Given the description of an element on the screen output the (x, y) to click on. 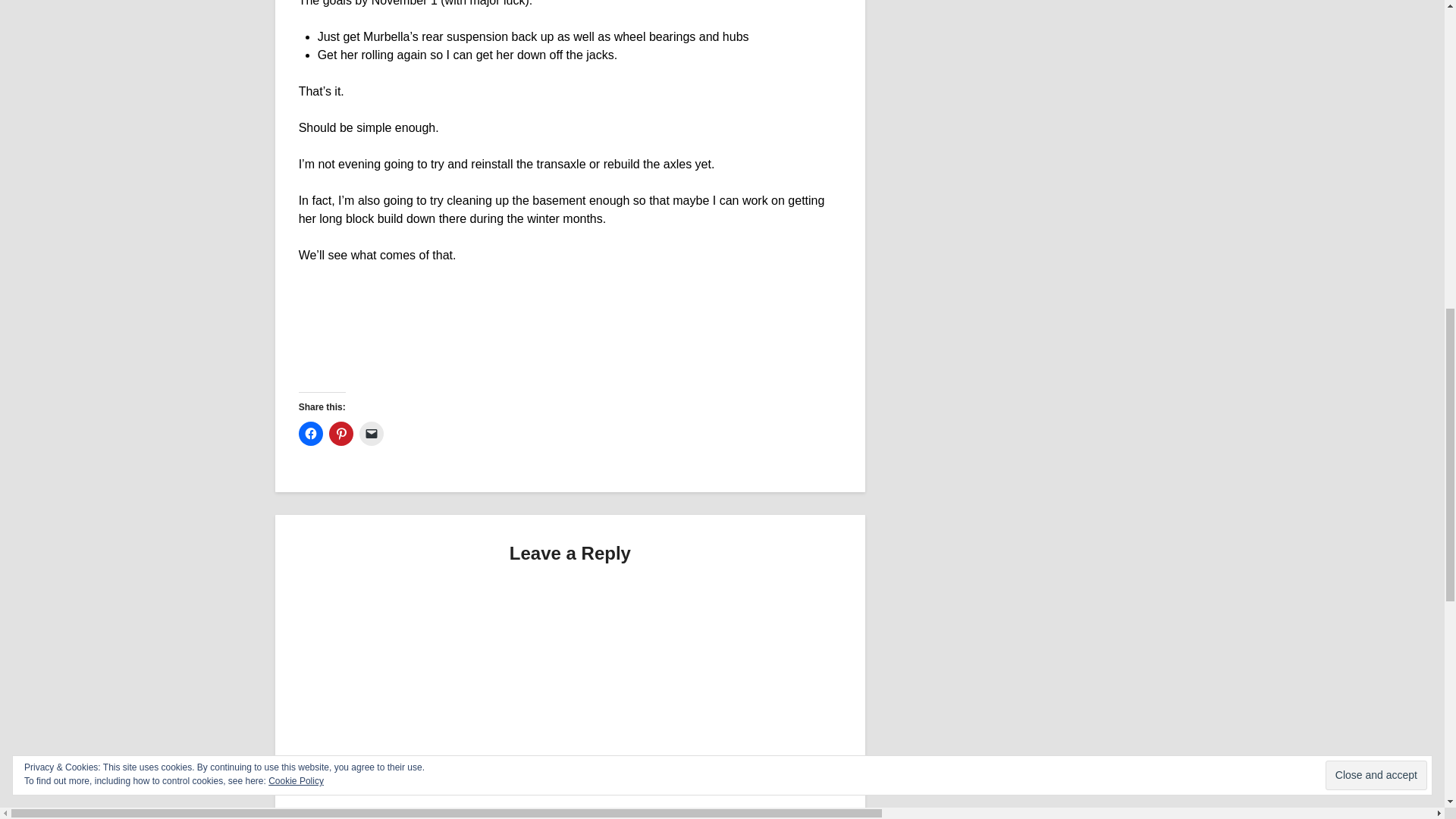
Click to email a link to a friend (371, 433)
Click to share on Pinterest (341, 433)
Click to share on Facebook (310, 433)
Comment Form (570, 697)
